Given the description of an element on the screen output the (x, y) to click on. 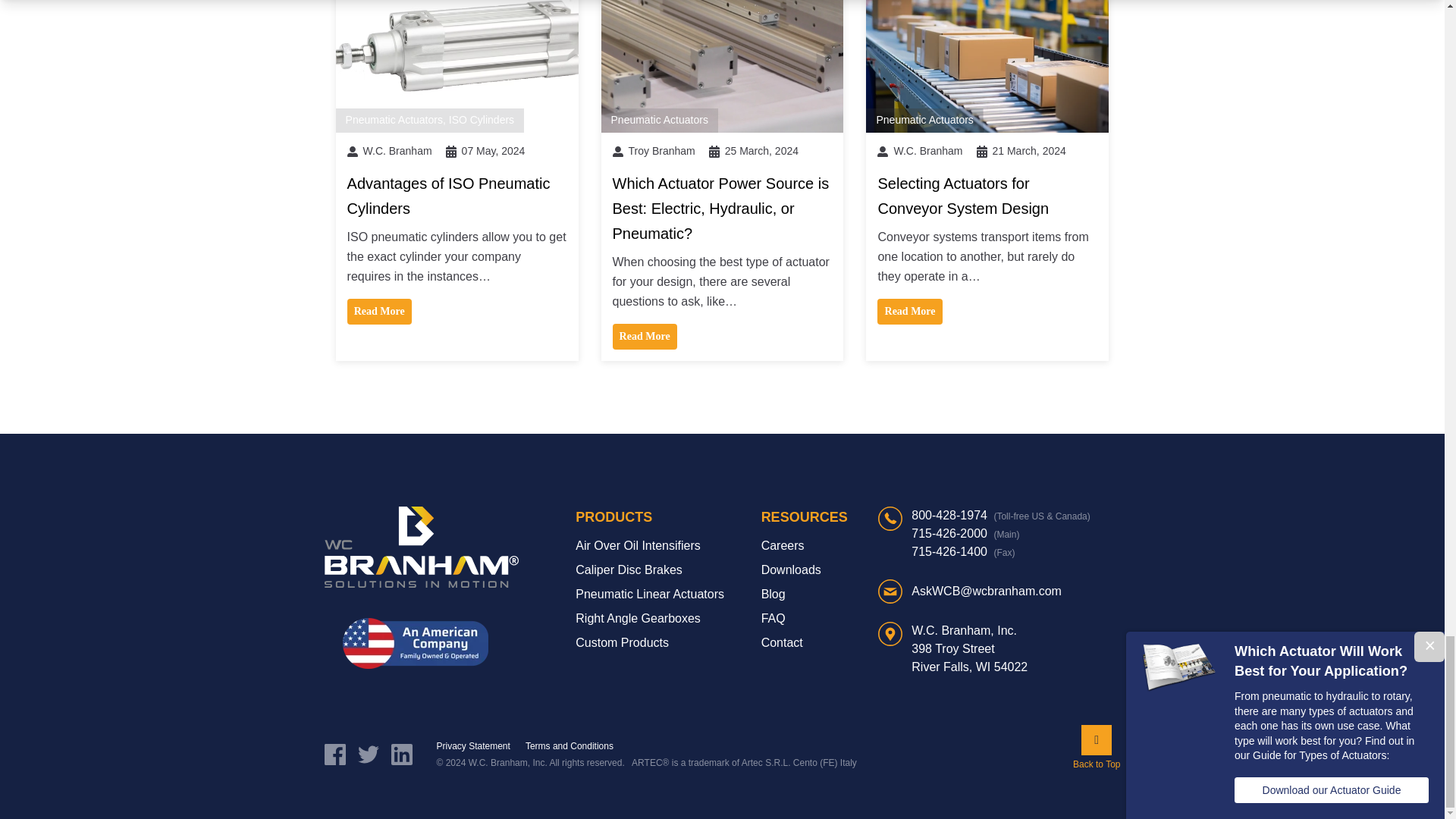
W.C. Branham Logo (421, 547)
Phone (965, 533)
Fax (962, 551)
An American Company: Family Owned and Operated (414, 643)
